Given the description of an element on the screen output the (x, y) to click on. 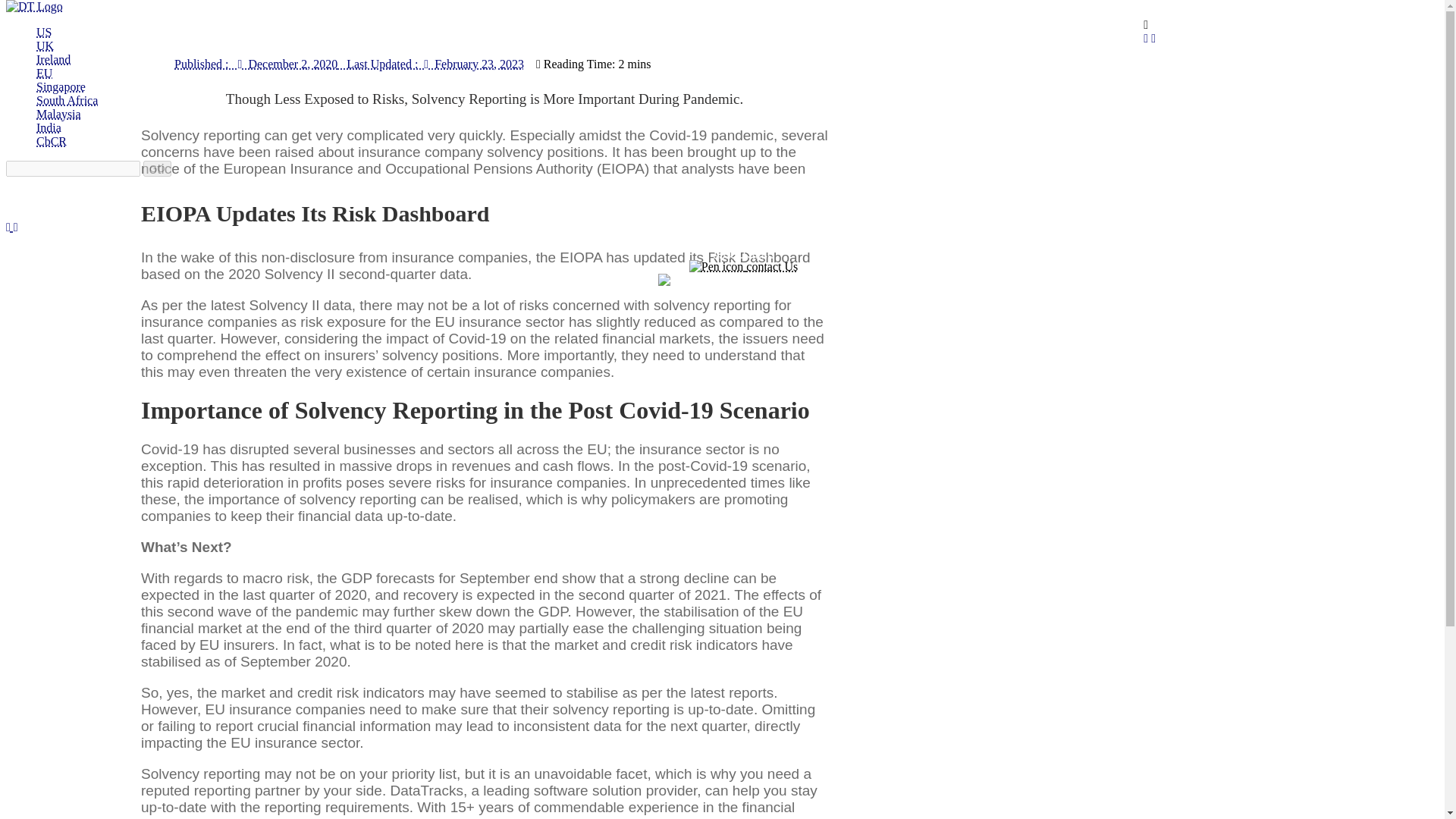
EU (44, 72)
GO (156, 168)
Home (608, 191)
GO (156, 168)
Malaysia (58, 113)
Ireland (52, 59)
Facebook share (1153, 38)
GO (156, 168)
About Us (740, 191)
Business Partners (821, 191)
Share on LinkedIn (1145, 38)
CbCR (51, 141)
Get a Quote (743, 252)
